Given the description of an element on the screen output the (x, y) to click on. 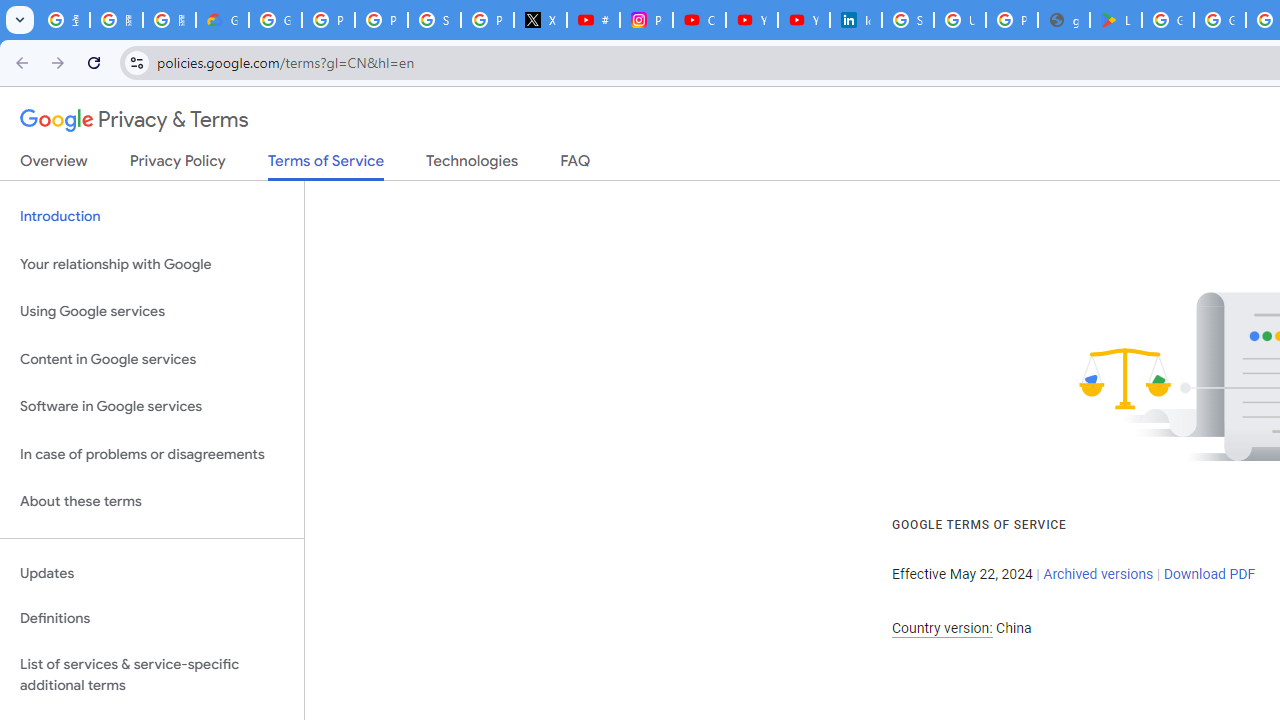
Archived versions (1098, 574)
